Given the description of an element on the screen output the (x, y) to click on. 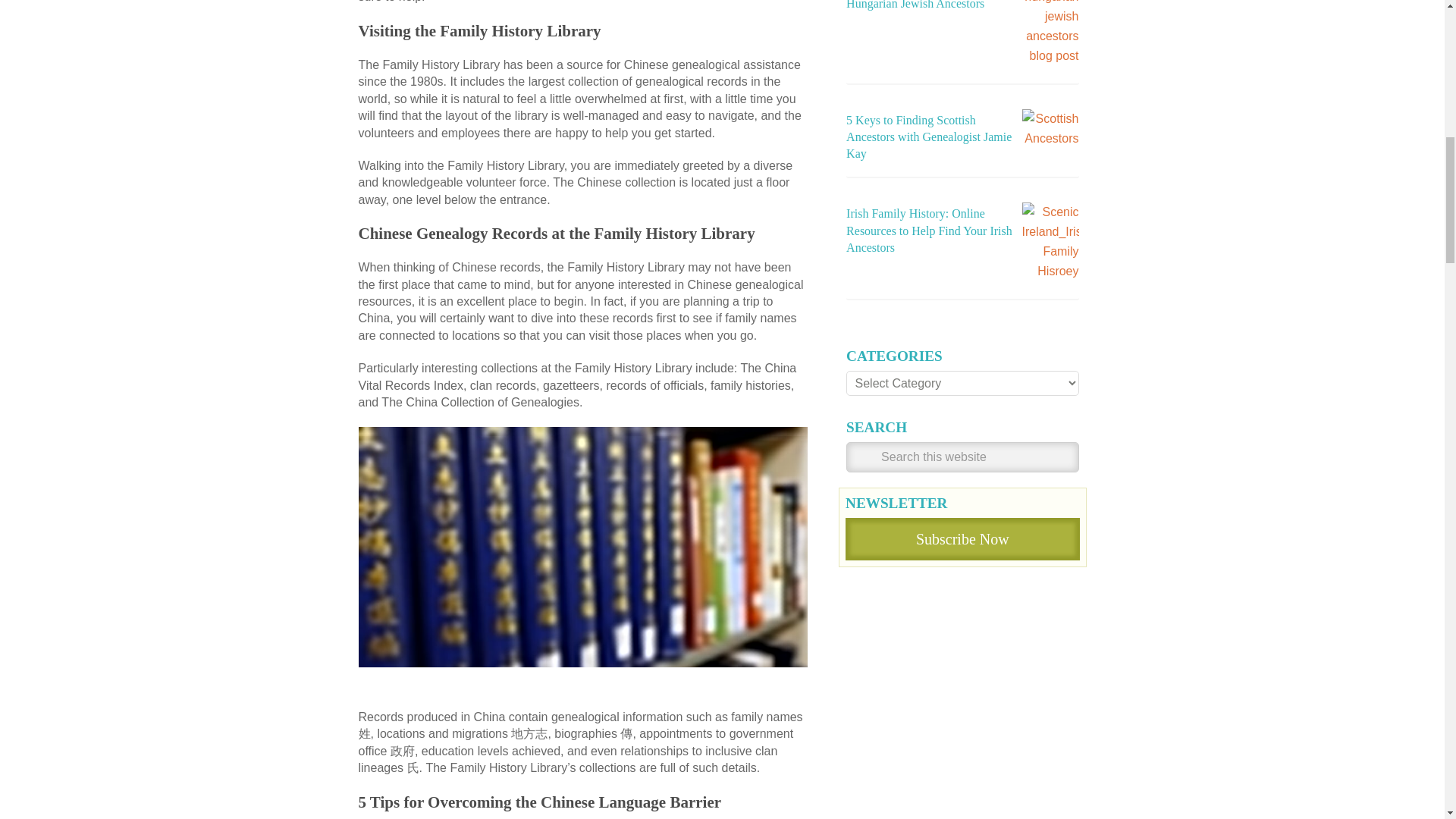
Search (862, 459)
Search (862, 459)
Subscribe Now (961, 538)
